Given the description of an element on the screen output the (x, y) to click on. 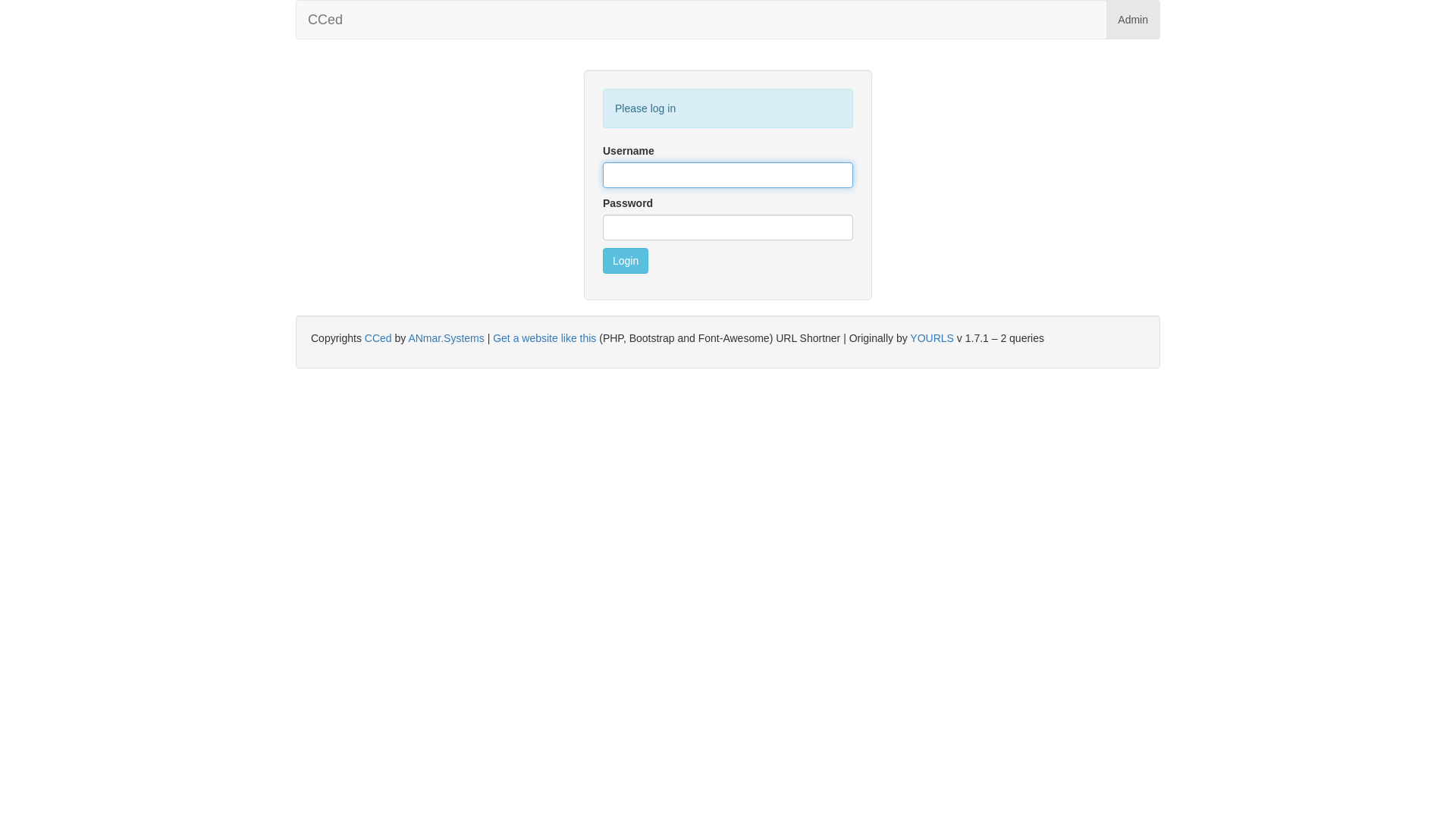
Login Element type: text (625, 260)
ANmar.Systems Element type: text (445, 338)
Get a website like this Element type: text (544, 338)
Admin Element type: text (1132, 19)
CCed Element type: text (378, 338)
CCed Element type: text (325, 19)
YOURLS Element type: text (931, 338)
